Given the description of an element on the screen output the (x, y) to click on. 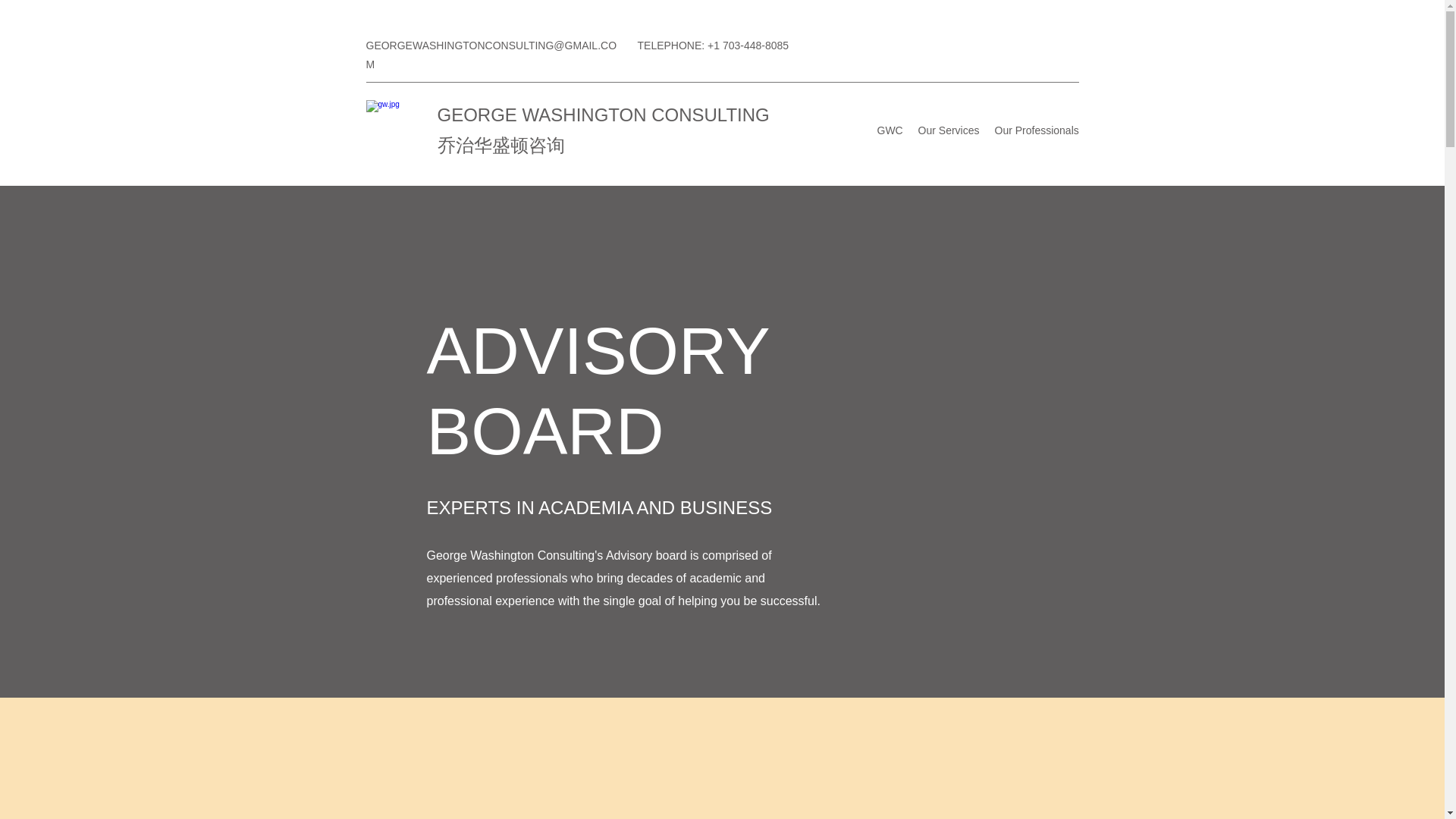
Our Professionals (1036, 129)
GWC (889, 129)
Our Services (948, 129)
